Given the description of an element on the screen output the (x, y) to click on. 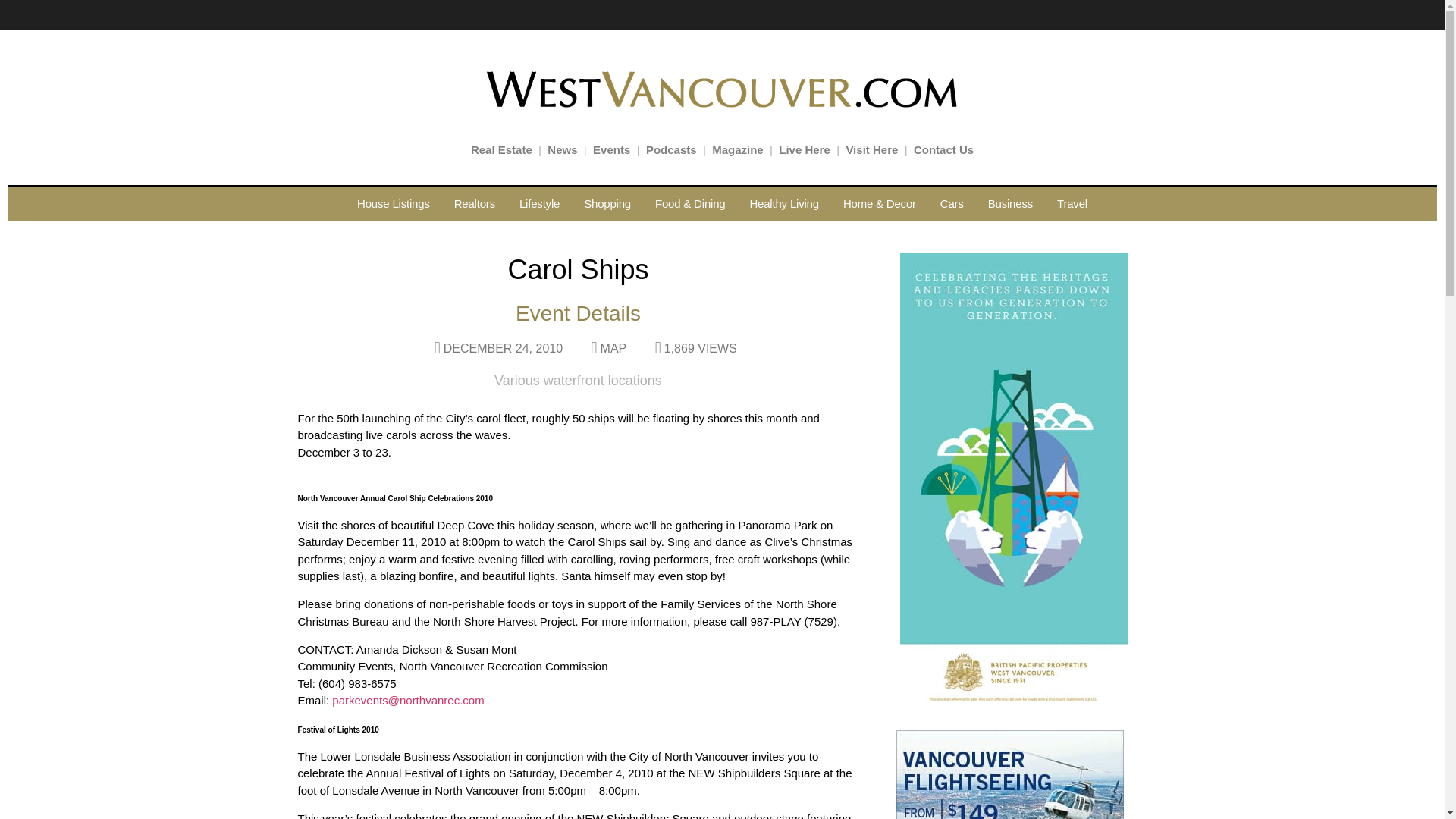
Contact Us (944, 149)
Lifestyle (539, 203)
Shopping (607, 203)
Real Estate (501, 149)
Visit Here (871, 149)
Healthy Living (782, 203)
Podcasts (671, 149)
Magazine (736, 149)
House Listings (393, 203)
News (561, 149)
Events (611, 149)
Live Here (803, 149)
Realtors (474, 203)
